Given the description of an element on the screen output the (x, y) to click on. 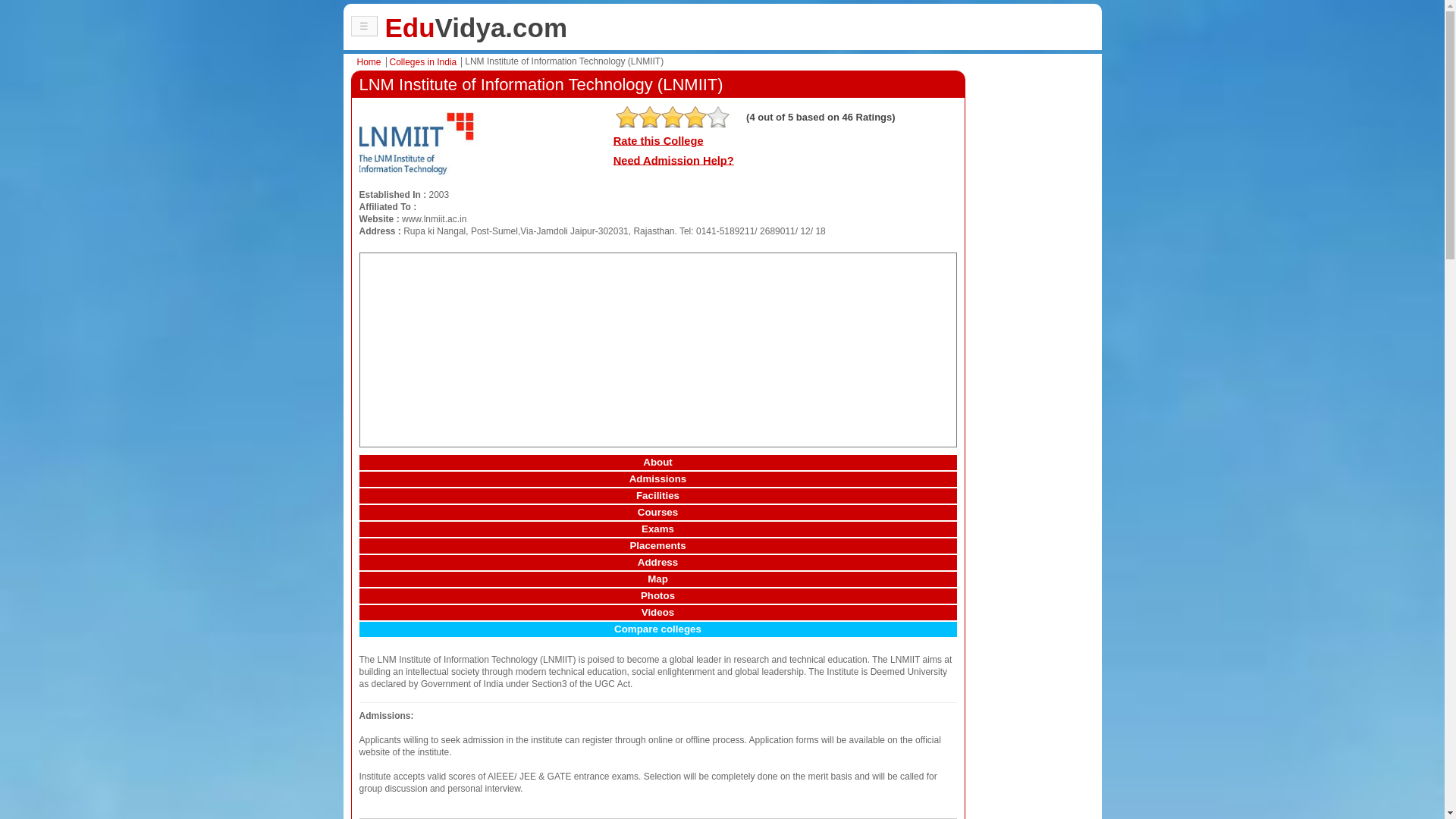
Colleges in India (426, 61)
Admissions (657, 478)
Rate this College (657, 140)
Placements (657, 545)
About (657, 462)
Courses (657, 512)
Photos (657, 595)
Videos (657, 612)
Compare colleges (657, 629)
3rd party ad content (657, 348)
